Given the description of an element on the screen output the (x, y) to click on. 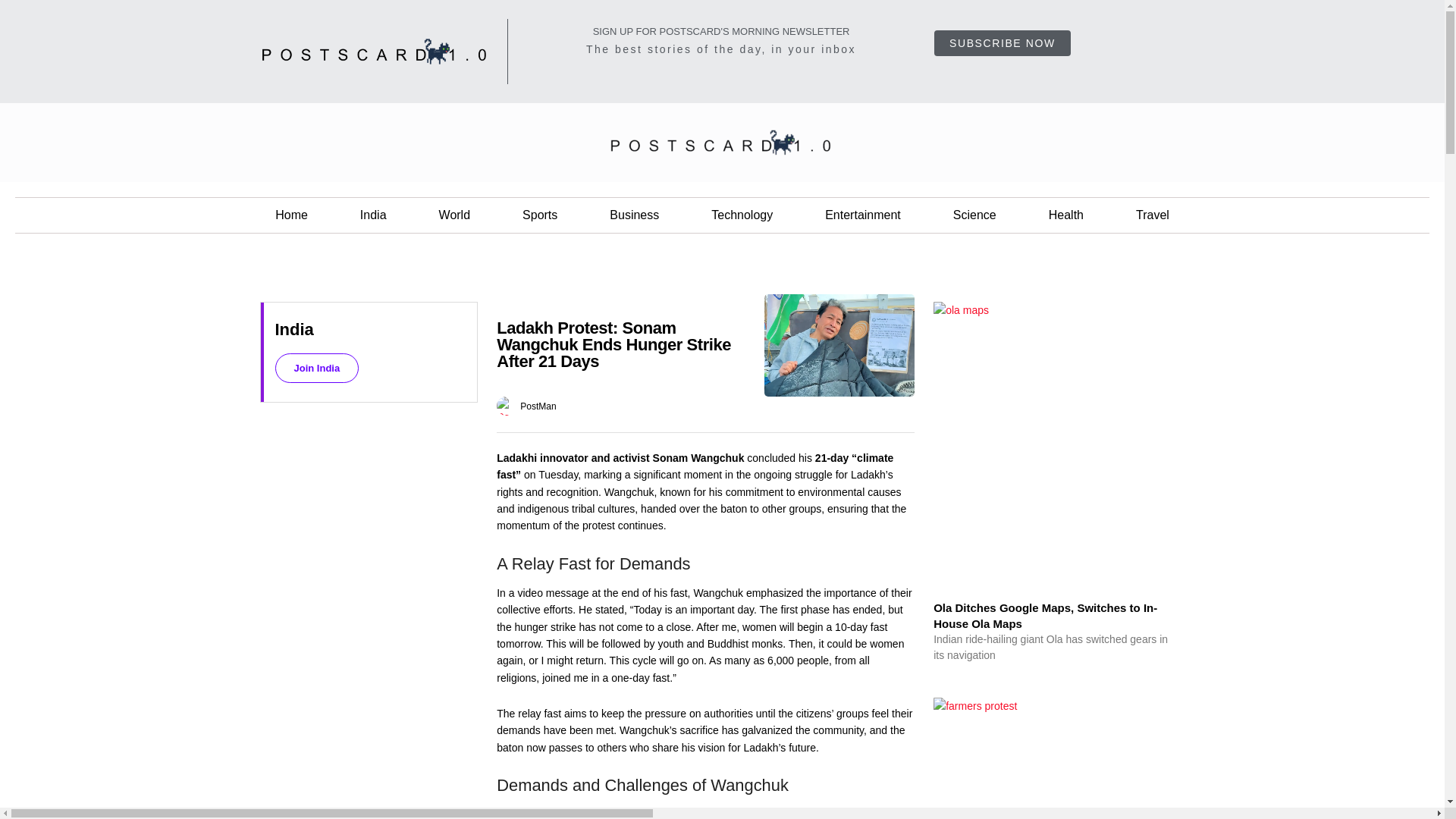
World (454, 215)
SUBSCRIBE NOW (1002, 43)
Entertainment (862, 215)
Health (1066, 215)
Join India (316, 367)
Science (974, 215)
Home (291, 215)
PostMan (537, 405)
India (373, 215)
Travel (1153, 215)
